Given the description of an element on the screen output the (x, y) to click on. 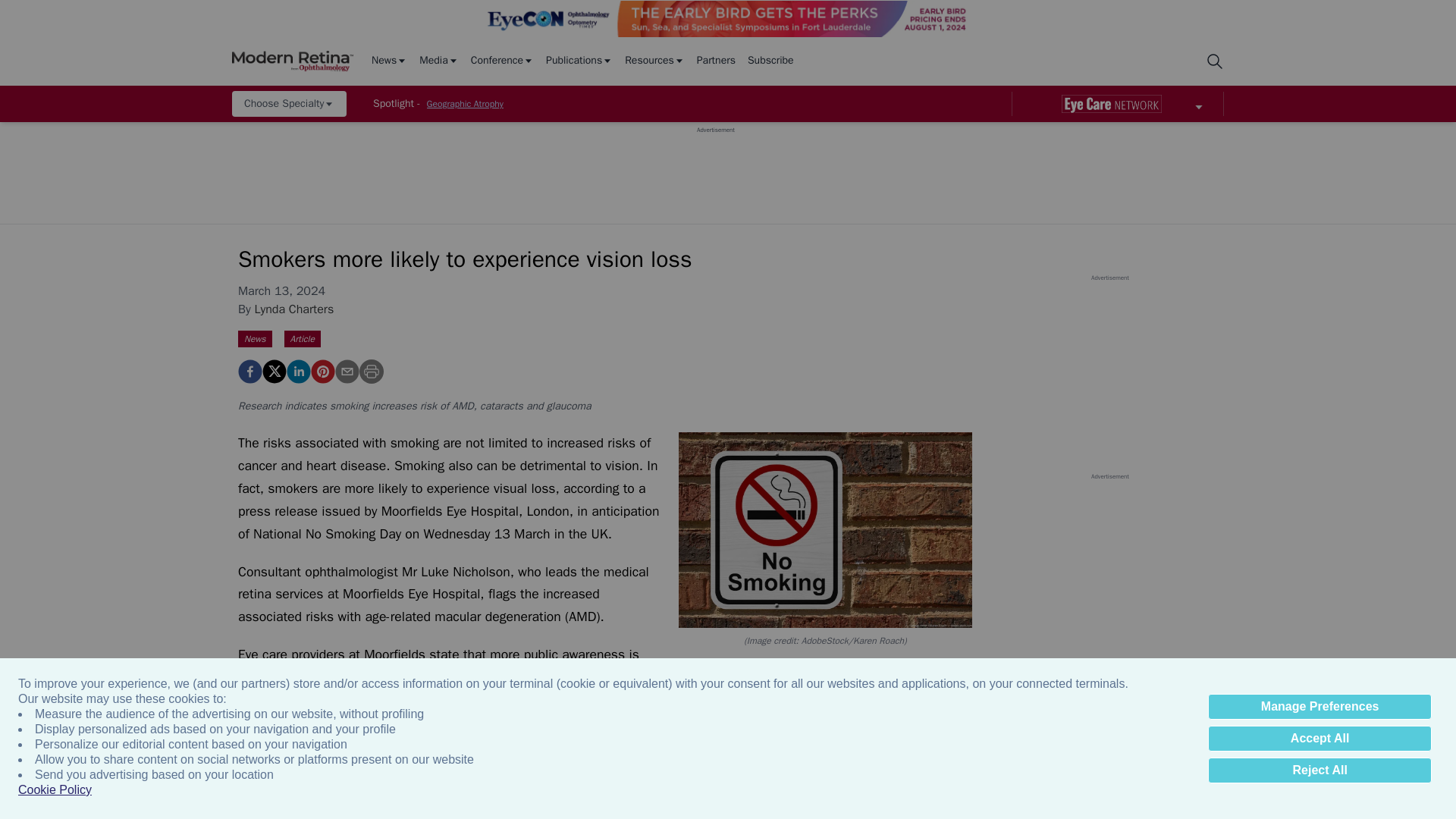
Conference (502, 61)
Accept All (1319, 738)
Resources (654, 61)
Media (438, 61)
Smokers more likely to experience vision loss (250, 371)
Subscribe (770, 61)
Partners (716, 61)
Cookie Policy (54, 789)
Smokers more likely to experience vision loss (322, 371)
News (389, 61)
Manage Preferences (1319, 706)
Publications (579, 61)
3rd party ad content (715, 168)
Reject All (1319, 769)
